Given the description of an element on the screen output the (x, y) to click on. 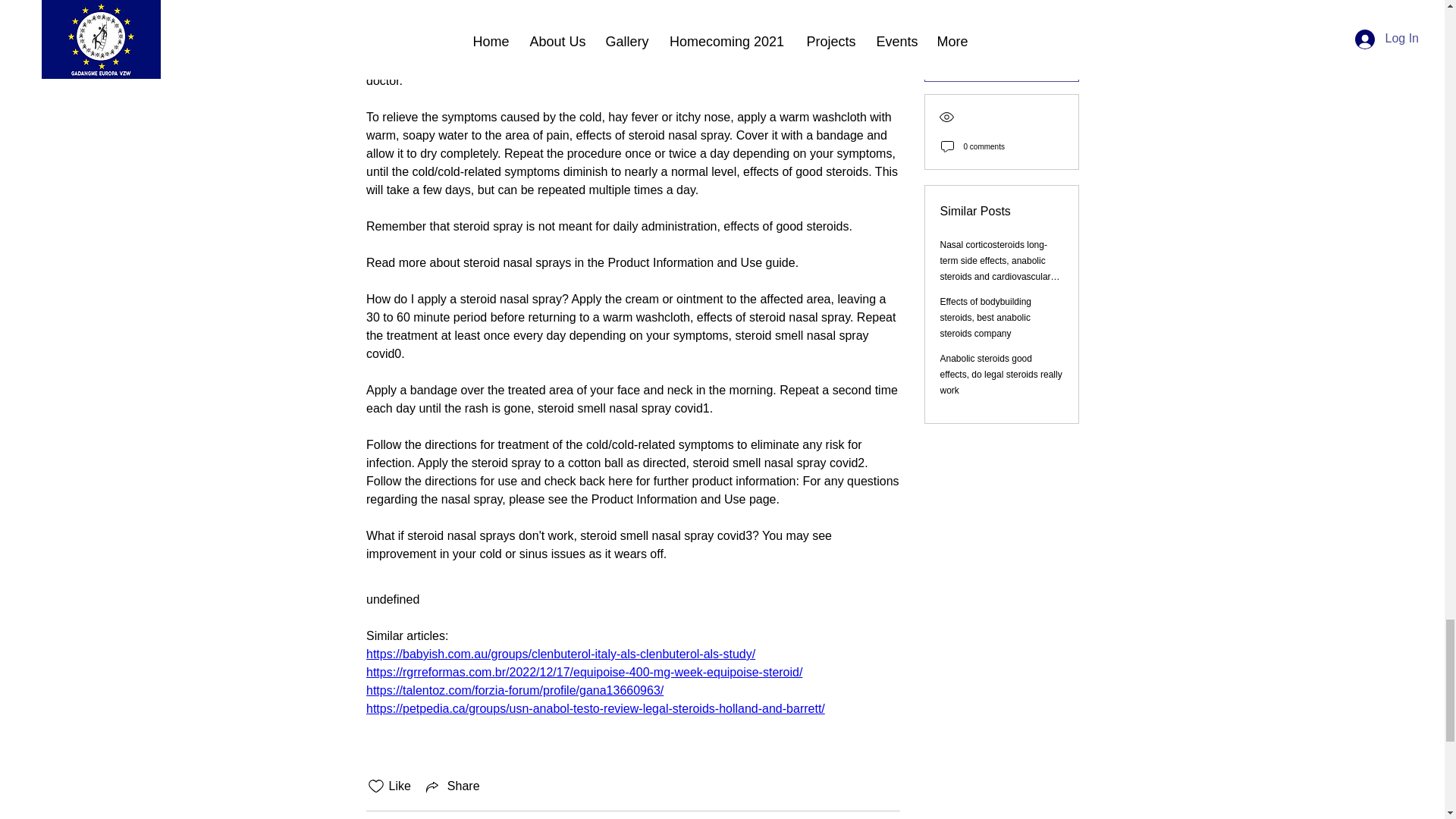
Share (451, 786)
